Given the description of an element on the screen output the (x, y) to click on. 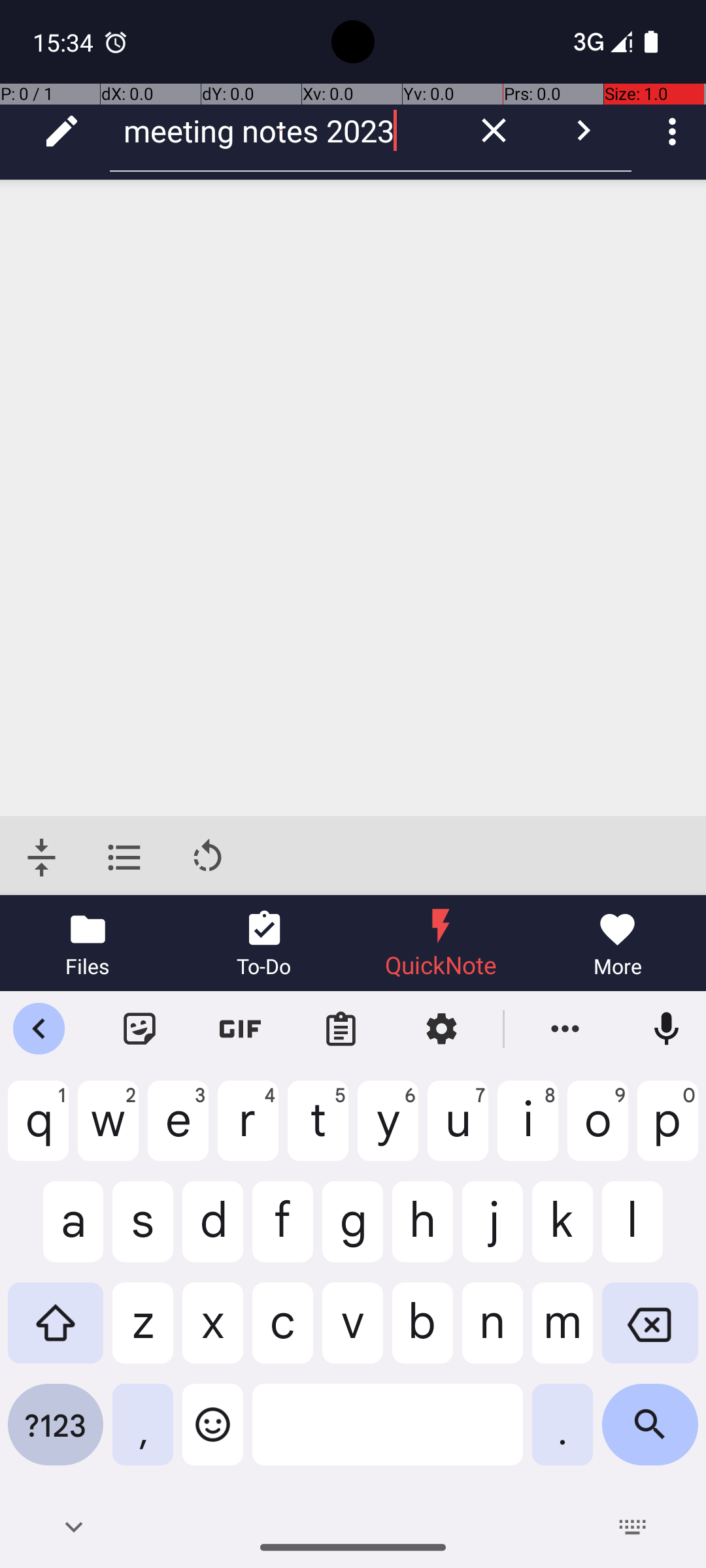
meeting notes 2023 Element type: android.widget.AutoCompleteTextView (280, 130)
